Given the description of an element on the screen output the (x, y) to click on. 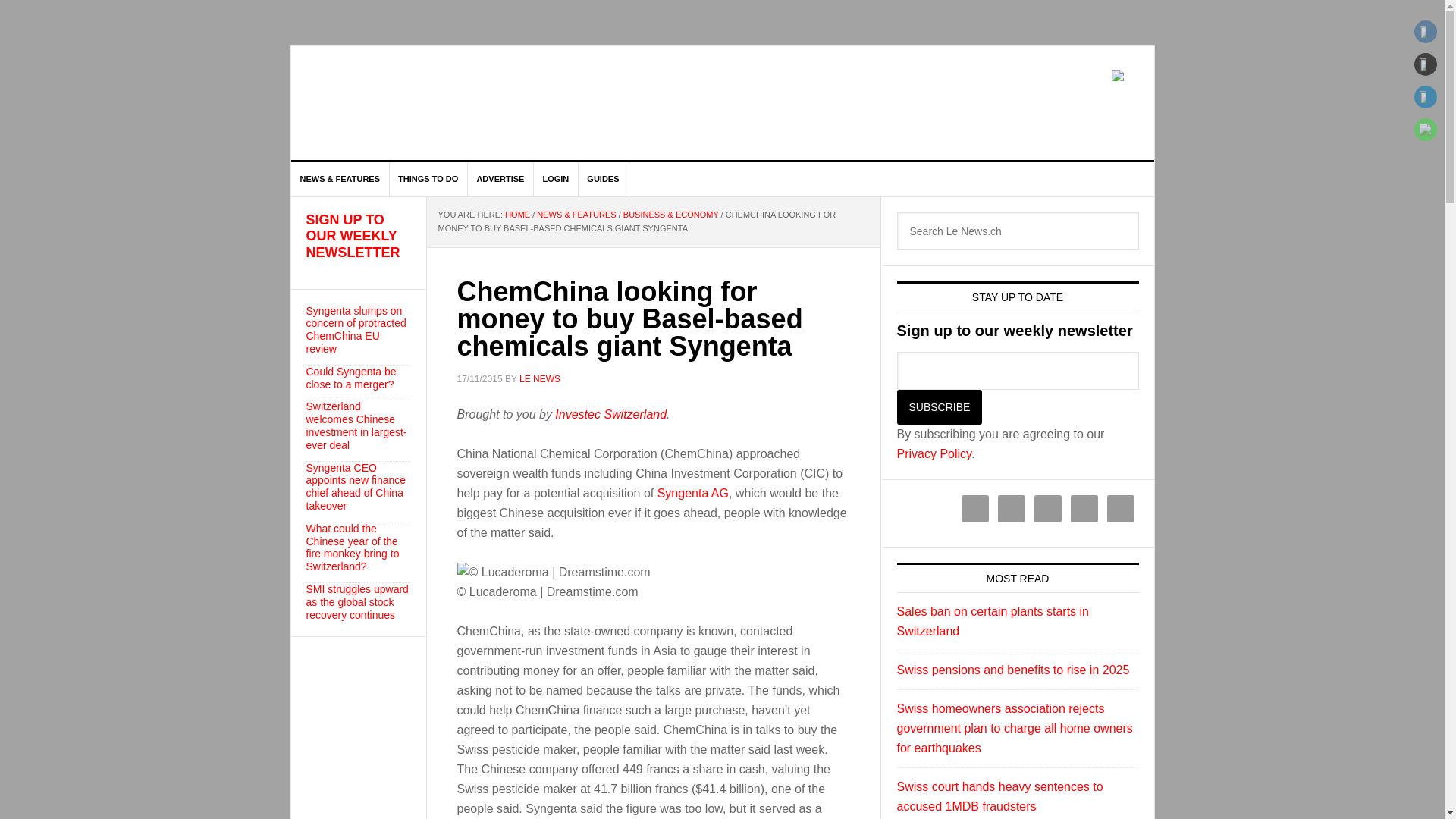
THINGS TO DO (427, 179)
WhatsApp (1425, 128)
Syngenta AG (693, 492)
ADVERTISE (500, 179)
Investec Switzerland (610, 413)
LE NEWS (419, 102)
Subscribe (938, 407)
HOME (517, 214)
